Given the description of an element on the screen output the (x, y) to click on. 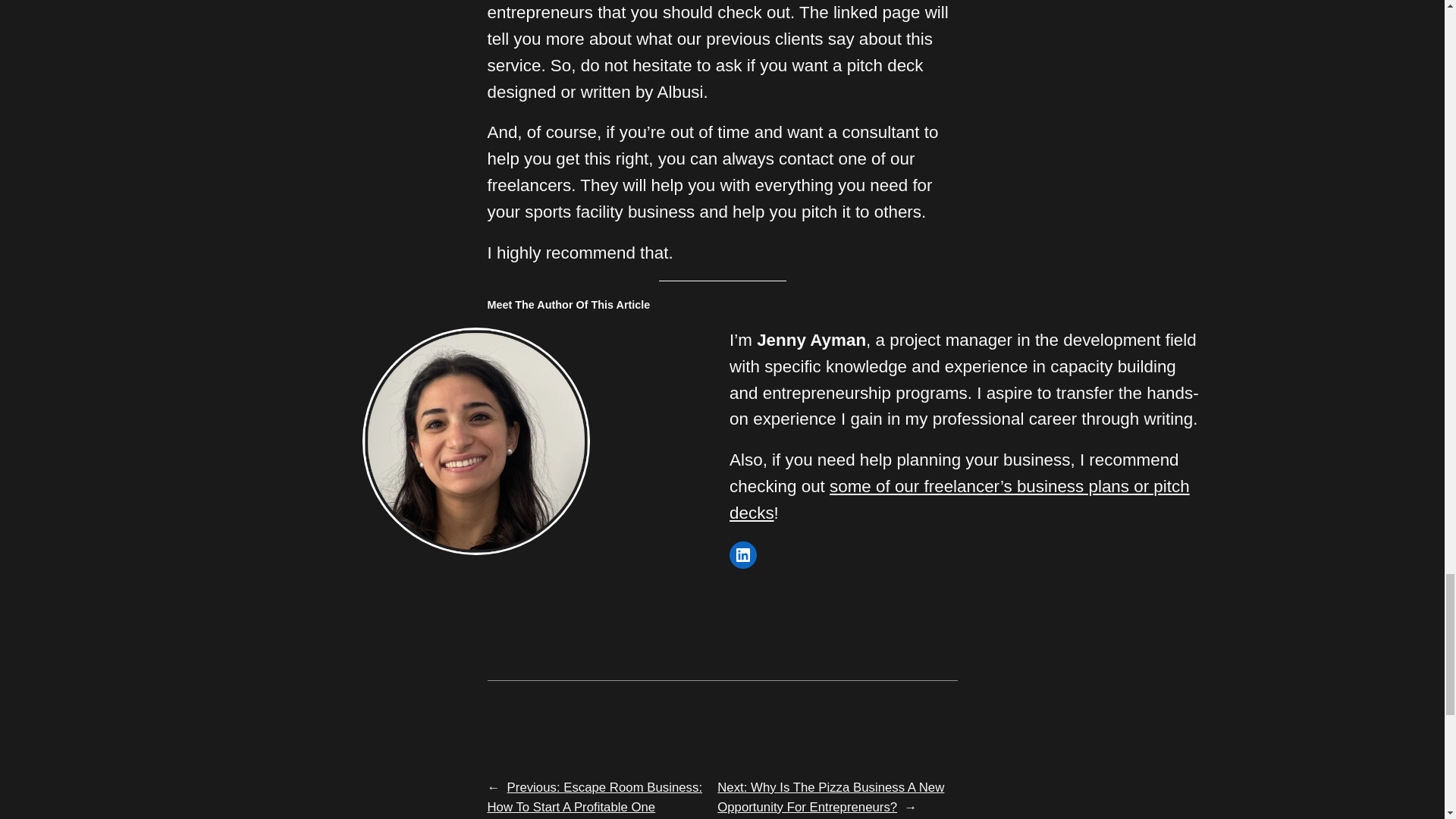
LinkedIn (743, 554)
